Given the description of an element on the screen output the (x, y) to click on. 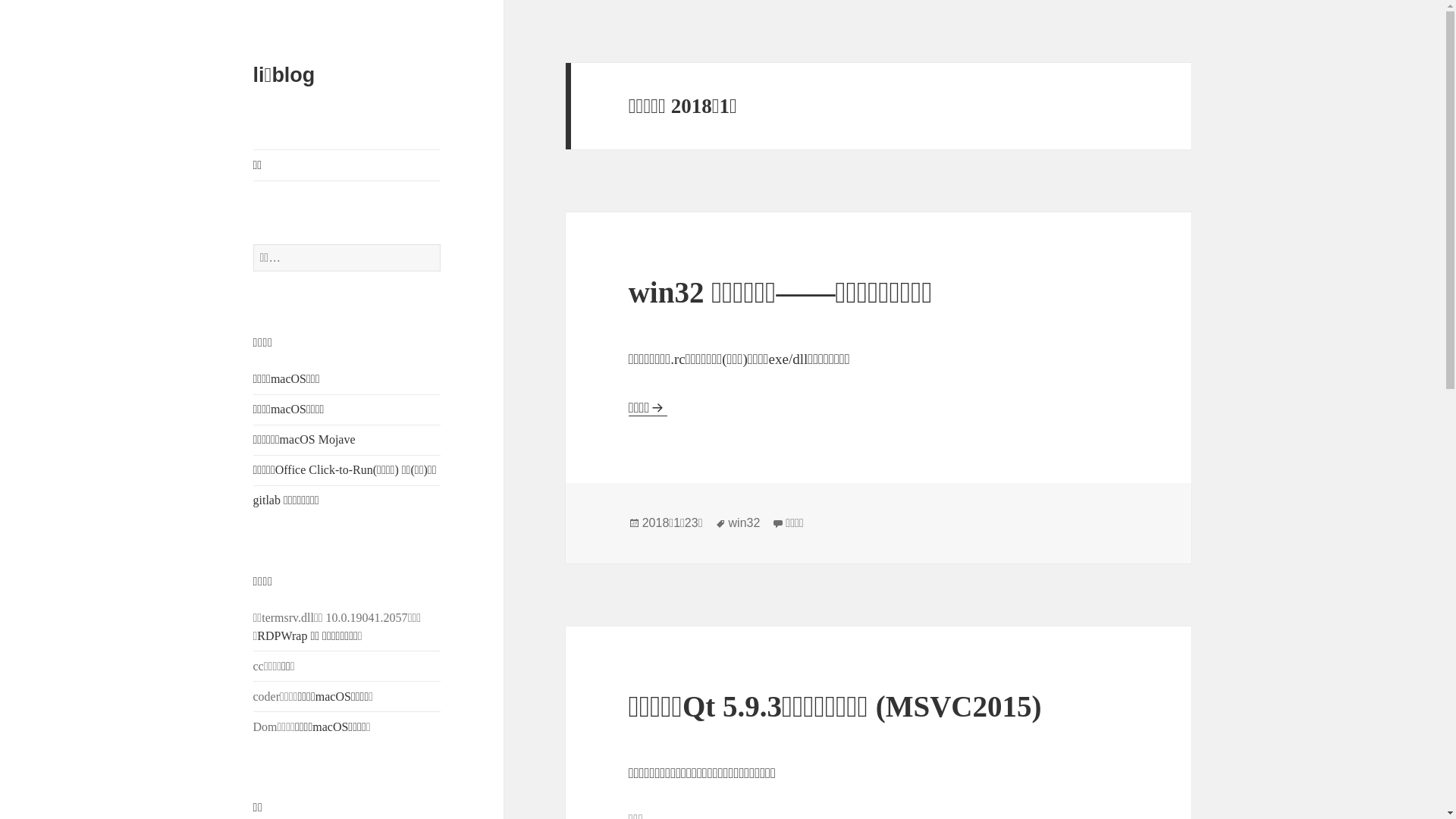
win32 Element type: text (744, 523)
